Given the description of an element on the screen output the (x, y) to click on. 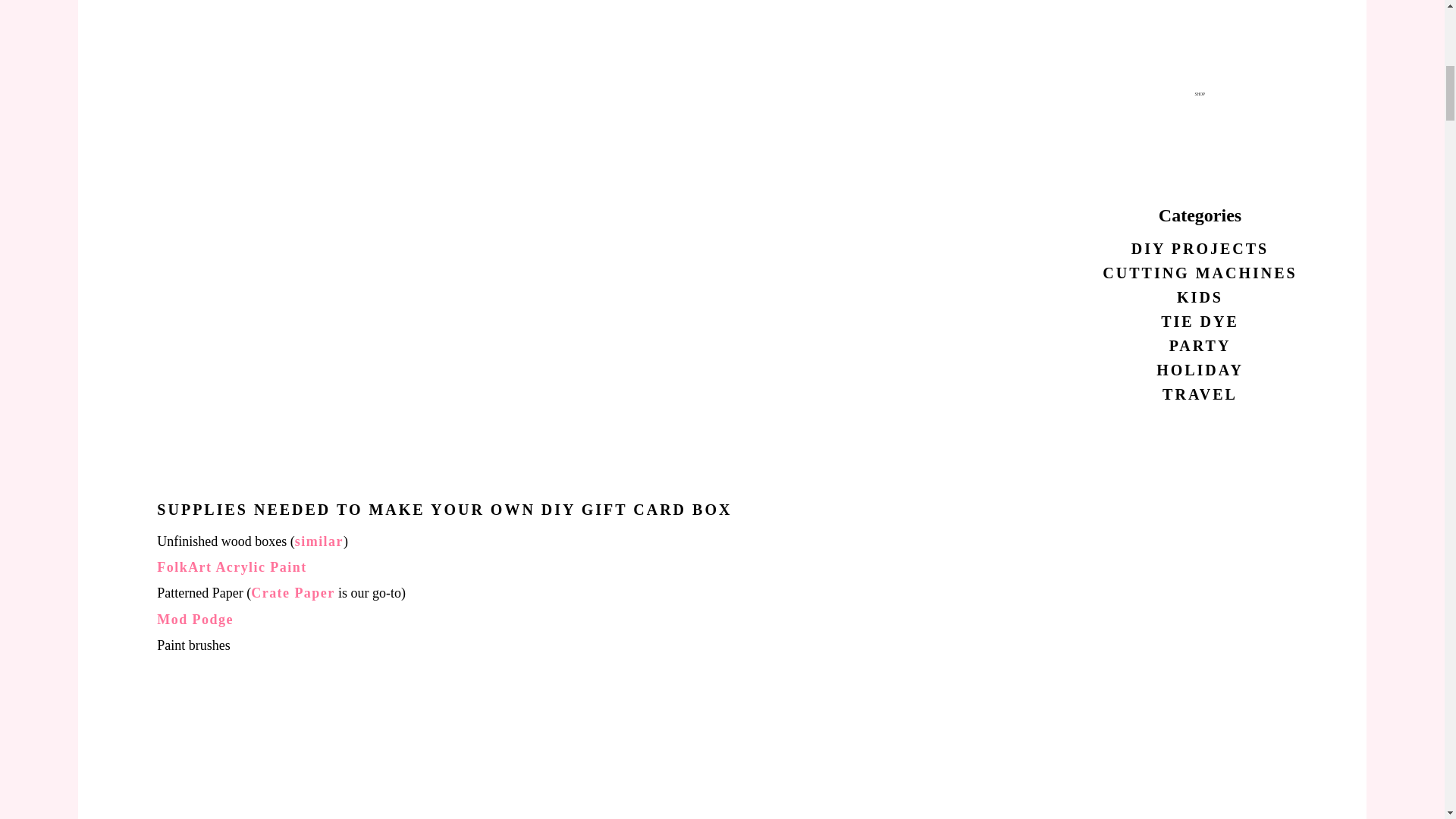
similar (319, 540)
FolkArt Acrylic Paint (231, 566)
Crate Paper (292, 592)
Mod Podge (194, 619)
